Given the description of an element on the screen output the (x, y) to click on. 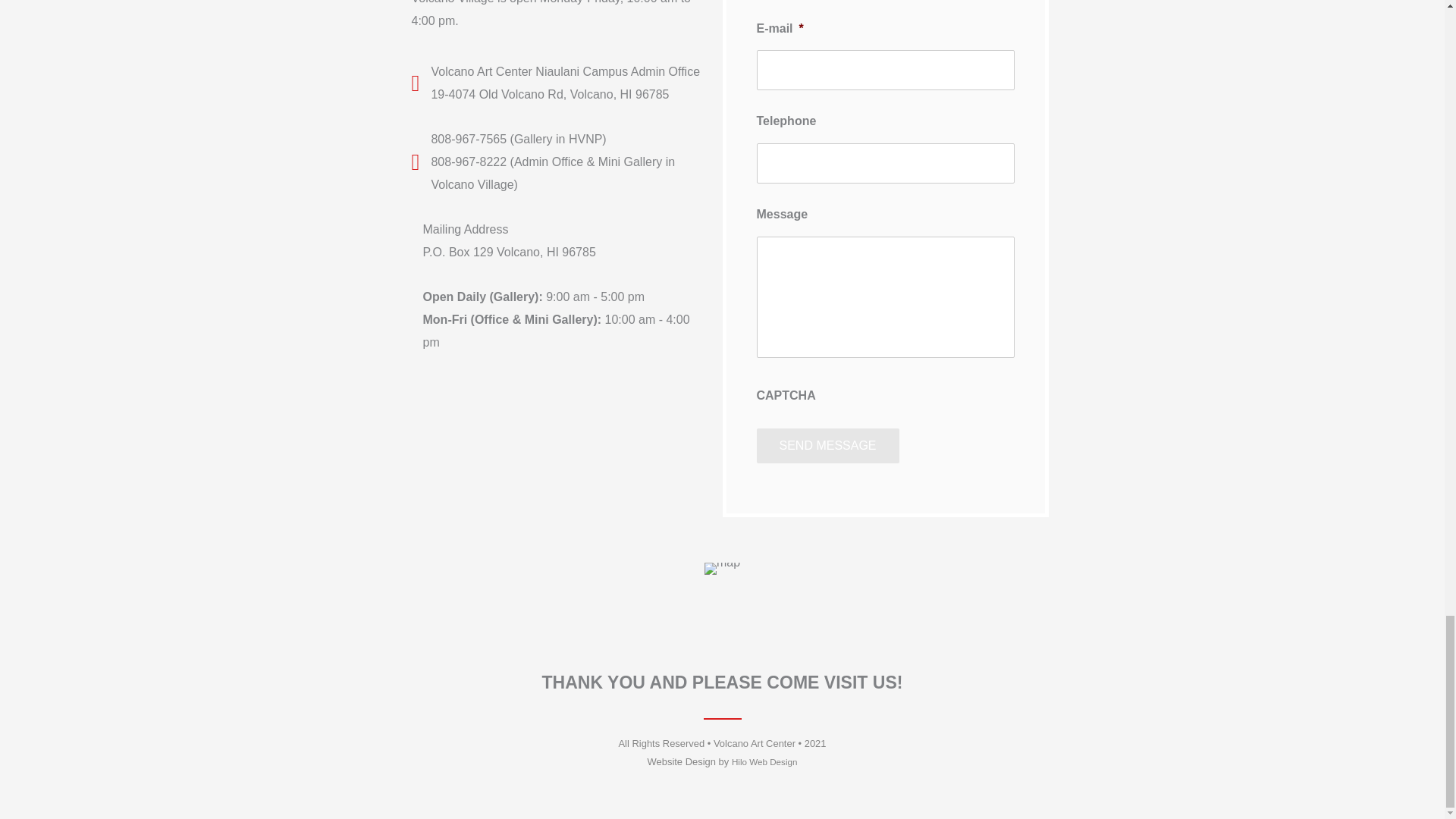
SEND MESSAGE (828, 445)
map (721, 568)
